Given the description of an element on the screen output the (x, y) to click on. 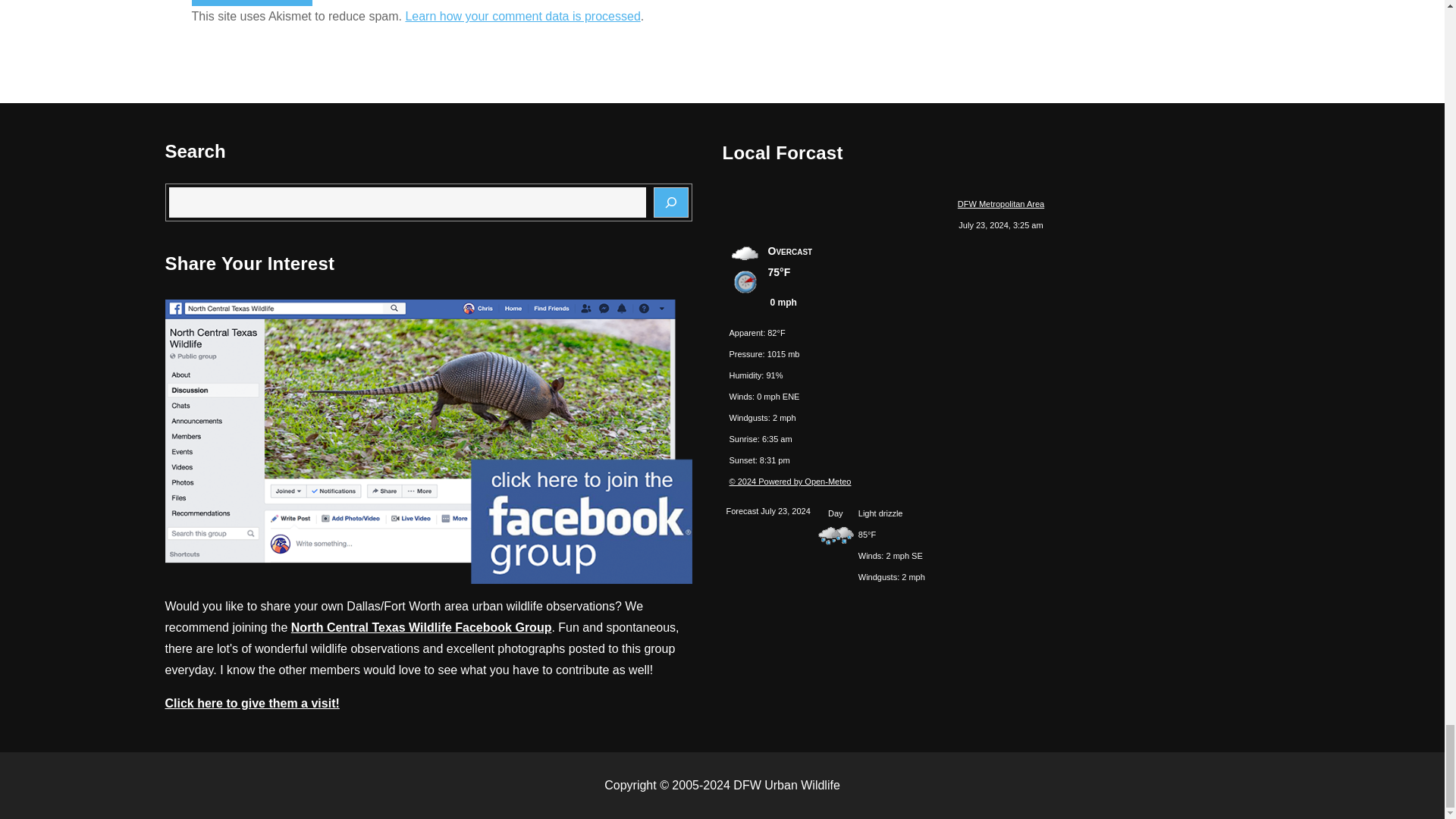
Learn how your comment data is processed (522, 15)
Post Comment (251, 2)
Post Comment (251, 2)
